Given the description of an element on the screen output the (x, y) to click on. 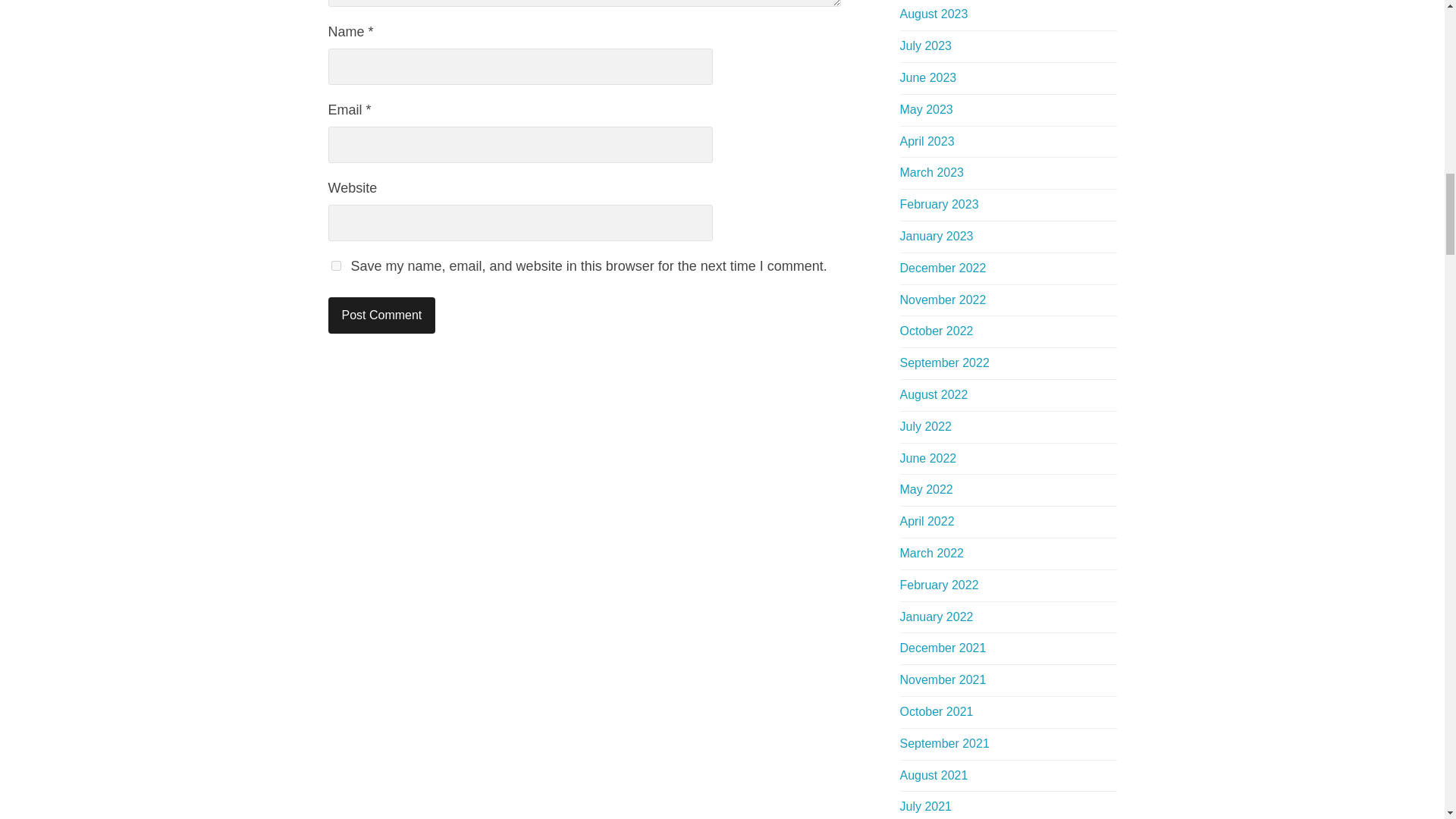
Post Comment (381, 315)
Post Comment (381, 315)
yes (335, 266)
